Given the description of an element on the screen output the (x, y) to click on. 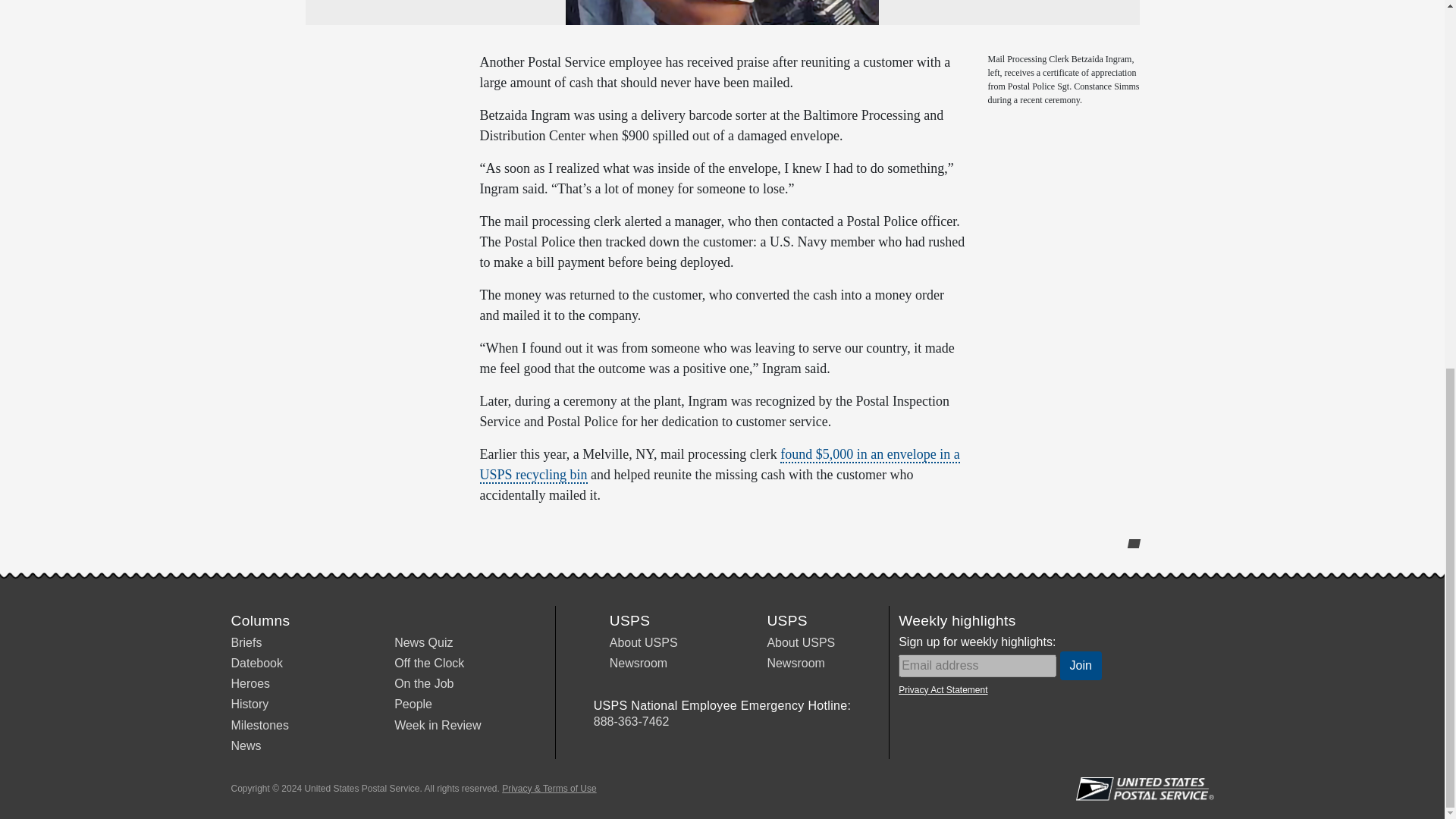
Heroes (249, 683)
Milestones (259, 725)
Newsroom (795, 662)
Newsroom (638, 662)
Join (1080, 665)
Datebook (256, 662)
About USPS (644, 642)
Briefs (246, 642)
Week in Review (437, 725)
People (413, 703)
News (245, 745)
Join (1080, 665)
History (248, 703)
News Quiz (423, 642)
On the Job (423, 683)
